Given the description of an element on the screen output the (x, y) to click on. 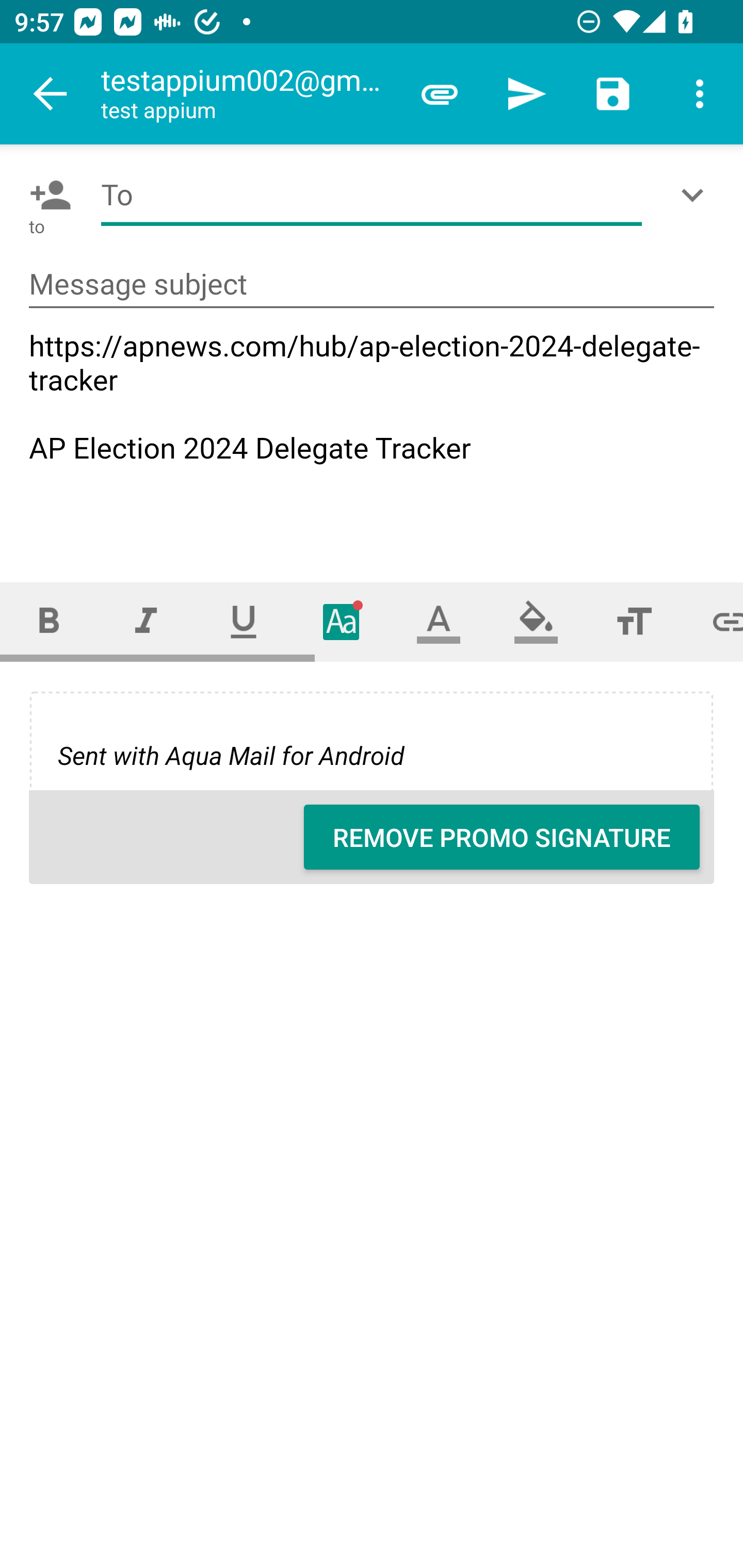
Navigate up (50, 93)
testappium002@gmail.com test appium (248, 93)
Attach (439, 93)
Send (525, 93)
Save (612, 93)
More options (699, 93)
Pick contact: To (46, 195)
Show/Add CC/BCC (696, 195)
To (371, 195)
Message subject (371, 284)
Bold (48, 621)
Italic (145, 621)
Underline (243, 621)
Typeface (font) (341, 621)
Text color (438, 621)
Fill color (536, 621)
Font size (633, 621)
Set link (712, 621)
REMOVE PROMO SIGNATURE (501, 837)
